Given the description of an element on the screen output the (x, y) to click on. 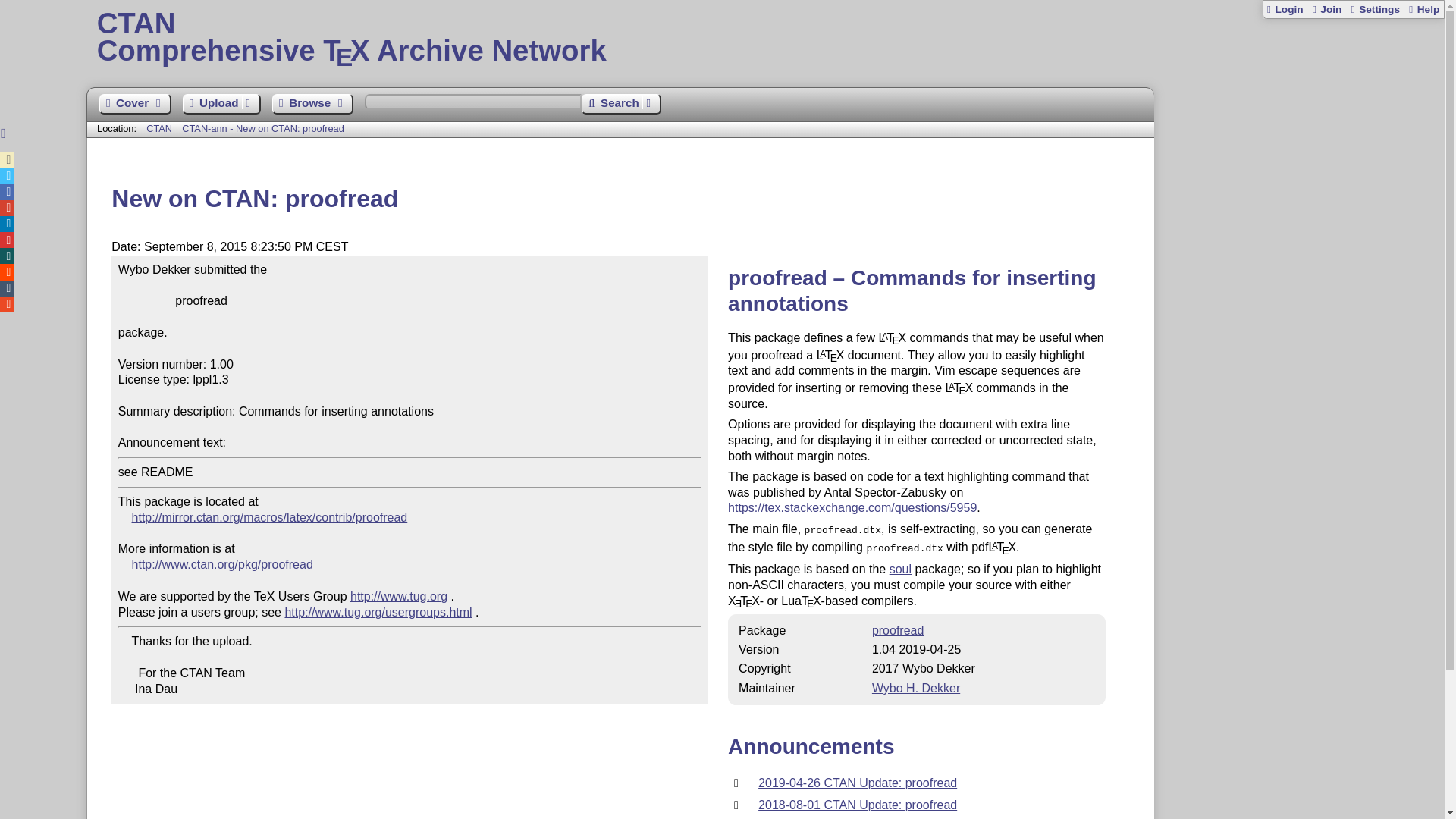
2019-04-26 CTAN Update: proofread (857, 782)
Login (1284, 8)
Settings (1374, 8)
Adjust the appearance to your taste (1374, 8)
CTAN lion drawing by Duane Bibby (1353, 183)
Login with your personal account (1284, 8)
Join (1325, 8)
soul (900, 568)
Browse (312, 104)
proofread (898, 629)
